Given the description of an element on the screen output the (x, y) to click on. 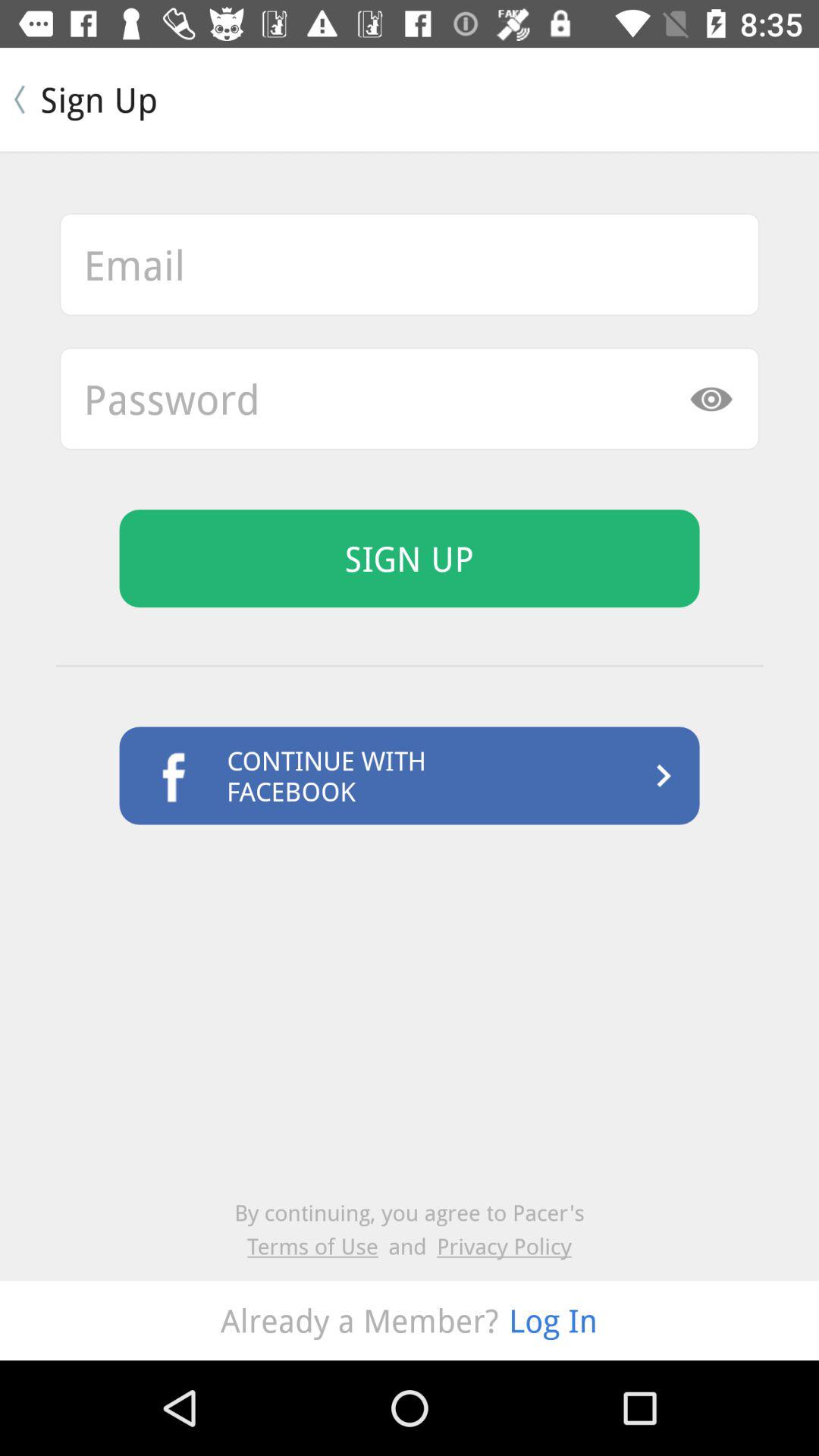
select the privacy policy item (503, 1245)
